Given the description of an element on the screen output the (x, y) to click on. 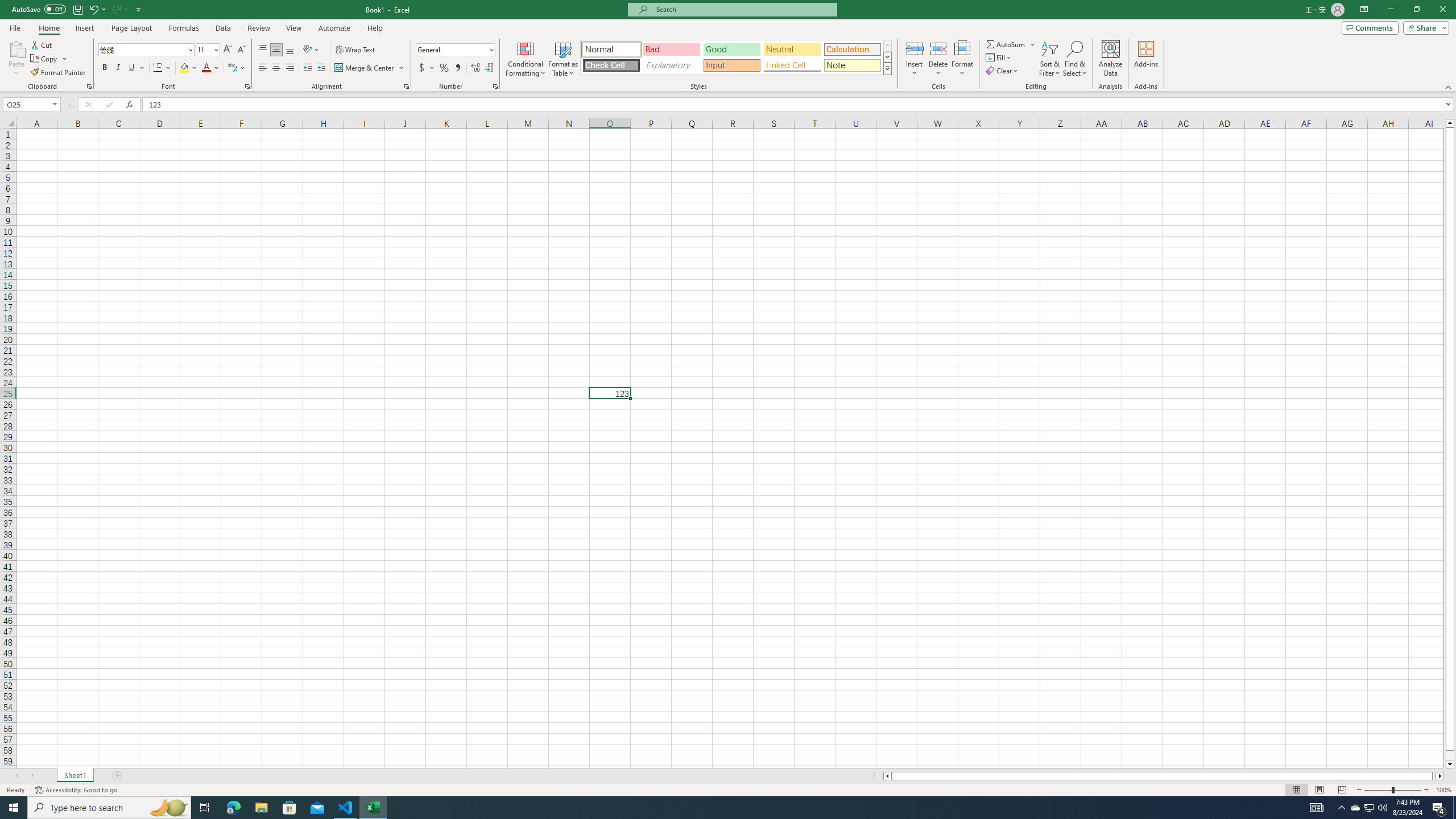
Fill Color RGB(255, 255, 0) (183, 67)
Accounting Number Format (422, 67)
Sum (1006, 44)
Accounting Number Format (426, 67)
Customize Quick Access Toolbar (139, 9)
AutoSave (38, 9)
Format (962, 58)
Fill (999, 56)
Bottom Align (290, 49)
Home (48, 28)
Line up (1449, 122)
Review (258, 28)
